Given the description of an element on the screen output the (x, y) to click on. 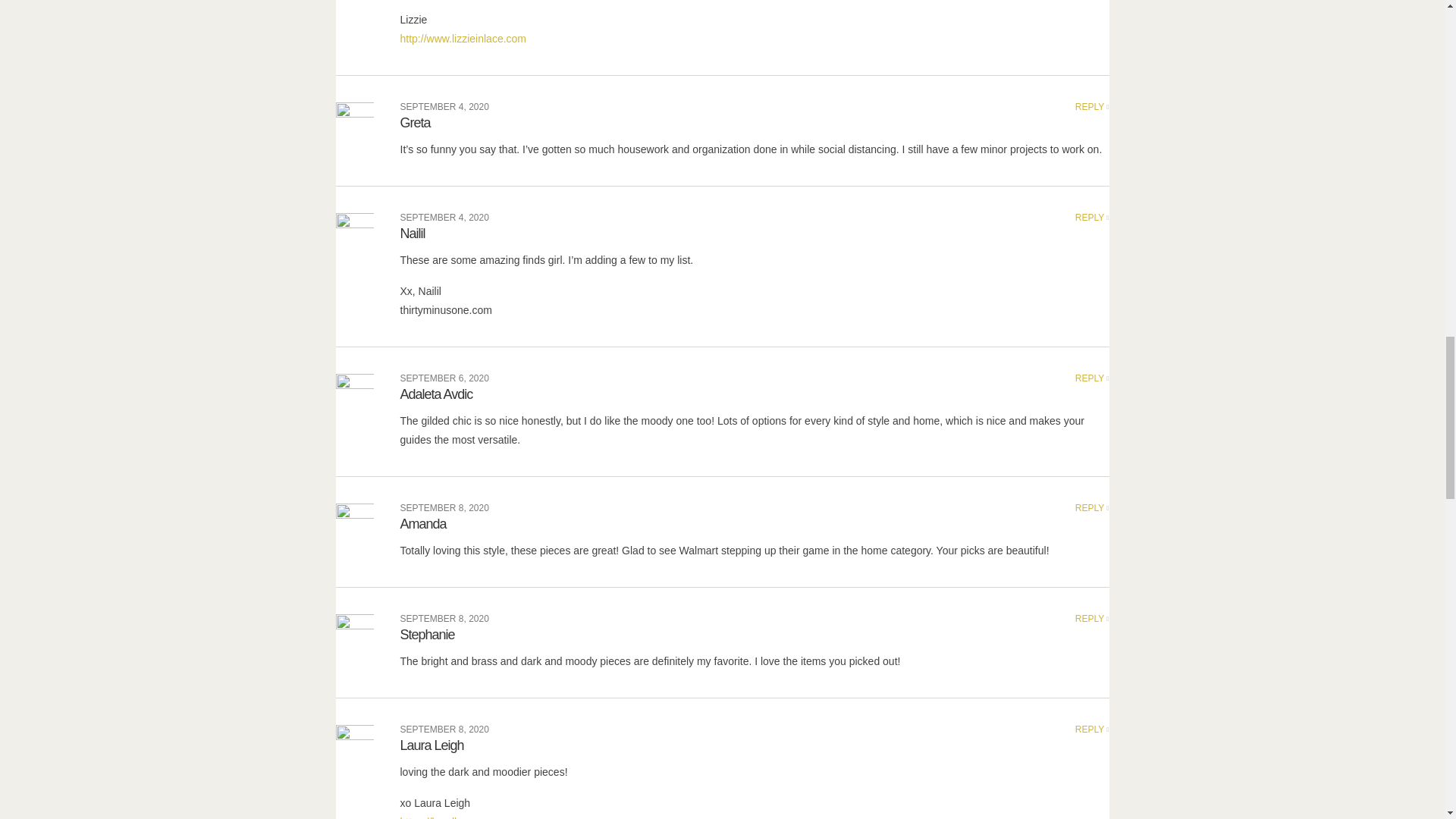
Greta (415, 122)
REPLY (1092, 106)
SEPTEMBER 4, 2020 (444, 106)
REPLY (1092, 378)
SEPTEMBER 6, 2020 (444, 378)
REPLY (1092, 216)
SEPTEMBER 4, 2020 (444, 216)
